Given the description of an element on the screen output the (x, y) to click on. 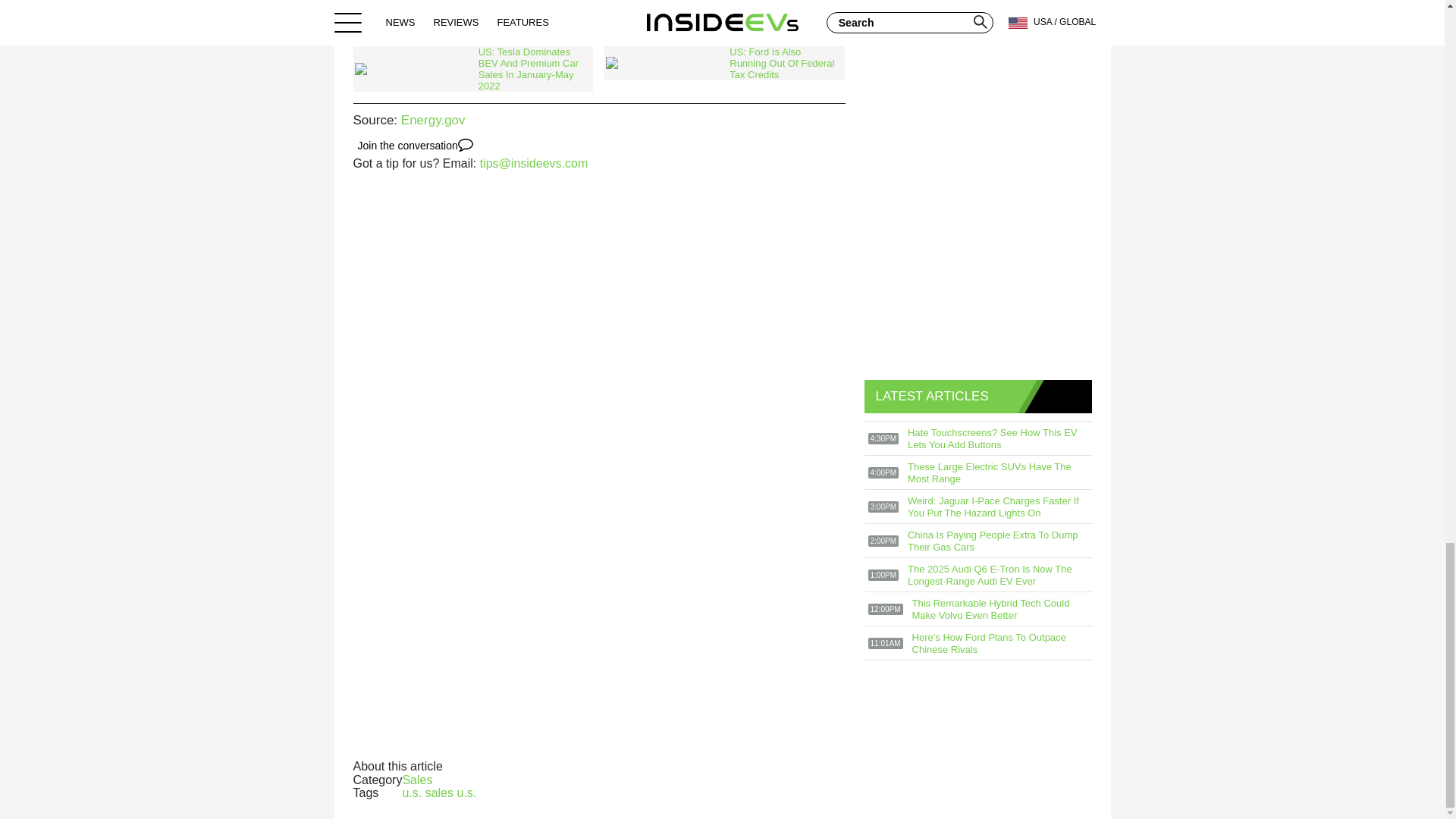
Energy.gov (433, 120)
US: Ford Is Also Running Out Of Federal Tax Credits (724, 62)
Join the conversation (415, 145)
